Given the description of an element on the screen output the (x, y) to click on. 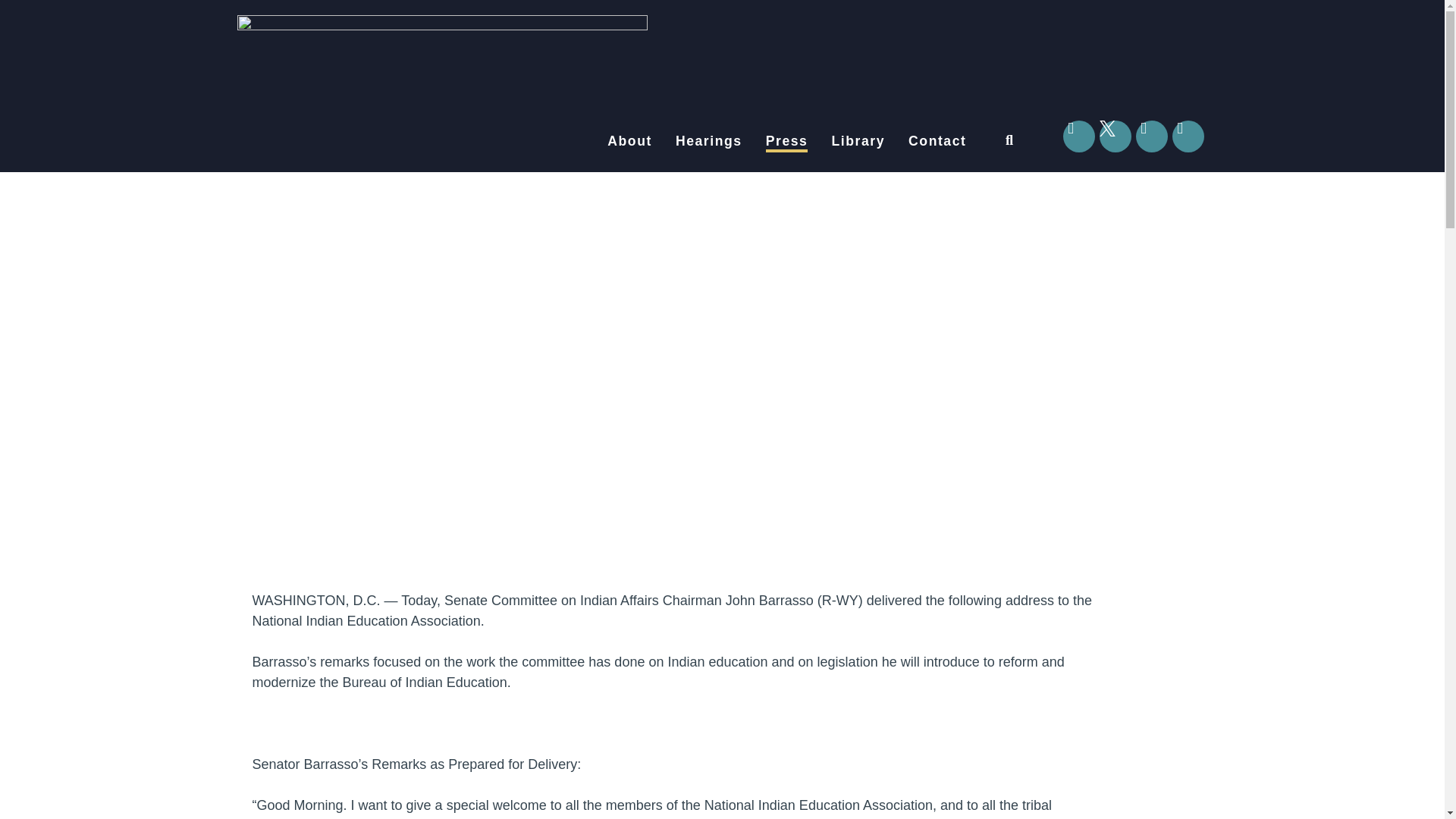
About (629, 140)
Hearings (708, 140)
Press (786, 140)
Library (858, 140)
Contact (937, 140)
